Given the description of an element on the screen output the (x, y) to click on. 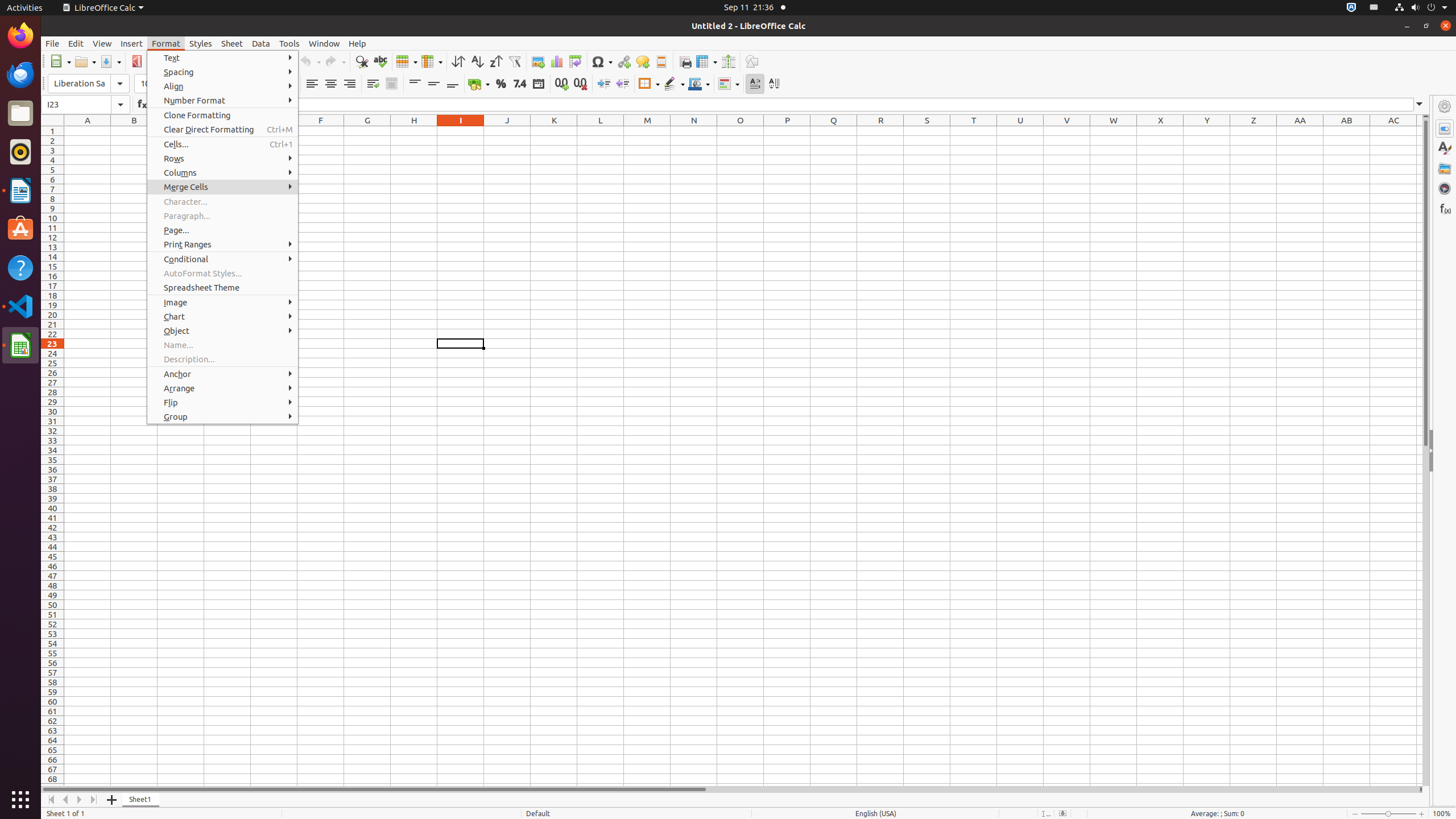
Delete Decimal Place Element type: push-button (580, 83)
Comment Element type: push-button (642, 61)
Spreadsheet Theme Element type: menu-item (222, 287)
Sheet1 Element type: page-tab (140, 799)
Hyperlink Element type: toggle-button (623, 61)
